Given the description of an element on the screen output the (x, y) to click on. 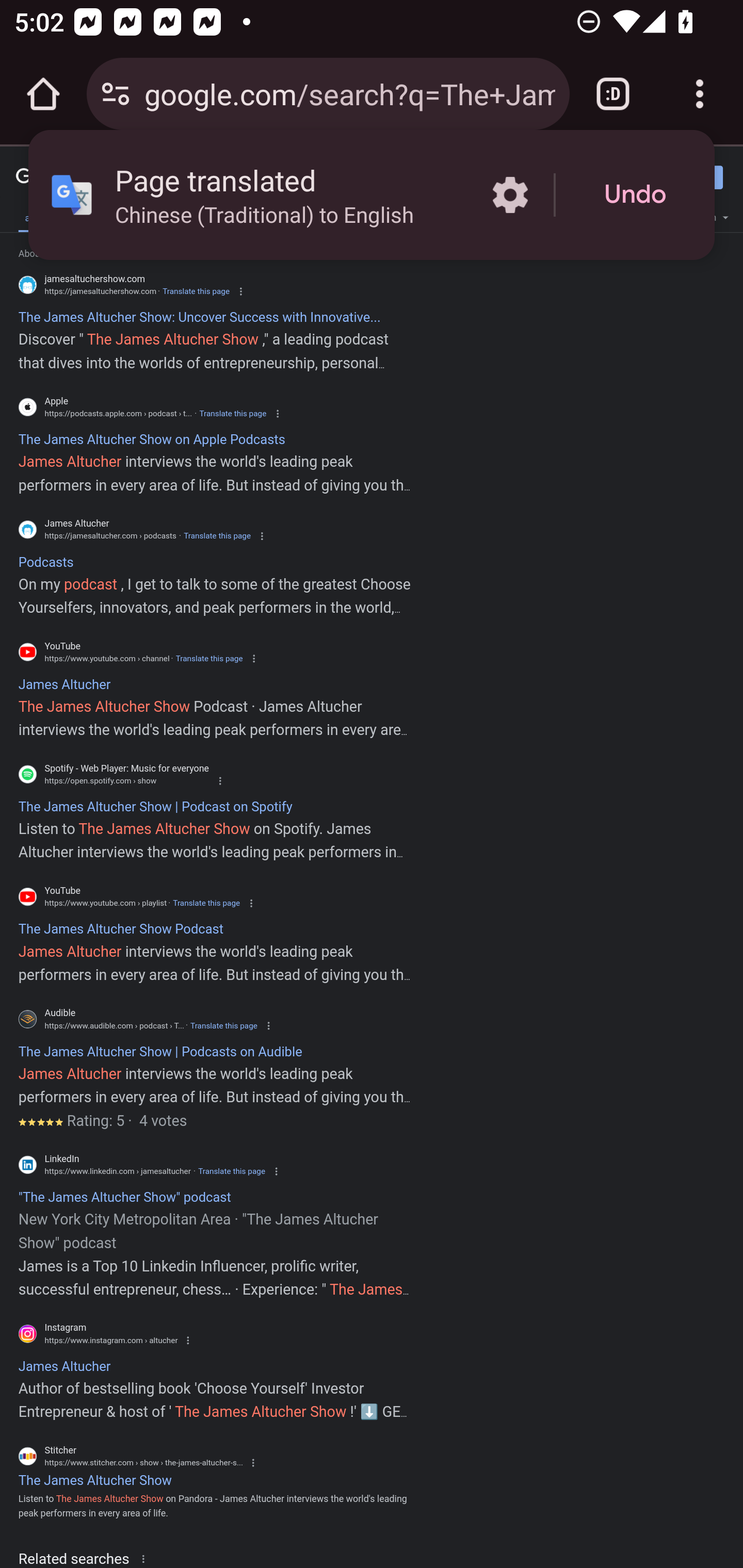
Open the home page (43, 93)
Connection is secure (115, 93)
Switch or close tabs (612, 93)
Customize and control Google Chrome (699, 93)
Undo (634, 195)
More options in the Page translated (509, 195)
Translate this page (195, 291)
Translate this page (232, 413)
Translate this page (217, 535)
Translate this page (208, 658)
Translate this page (206, 902)
Translate this page (223, 1025)
Translate this page (231, 1171)
About this result (146, 1557)
